Given the description of an element on the screen output the (x, y) to click on. 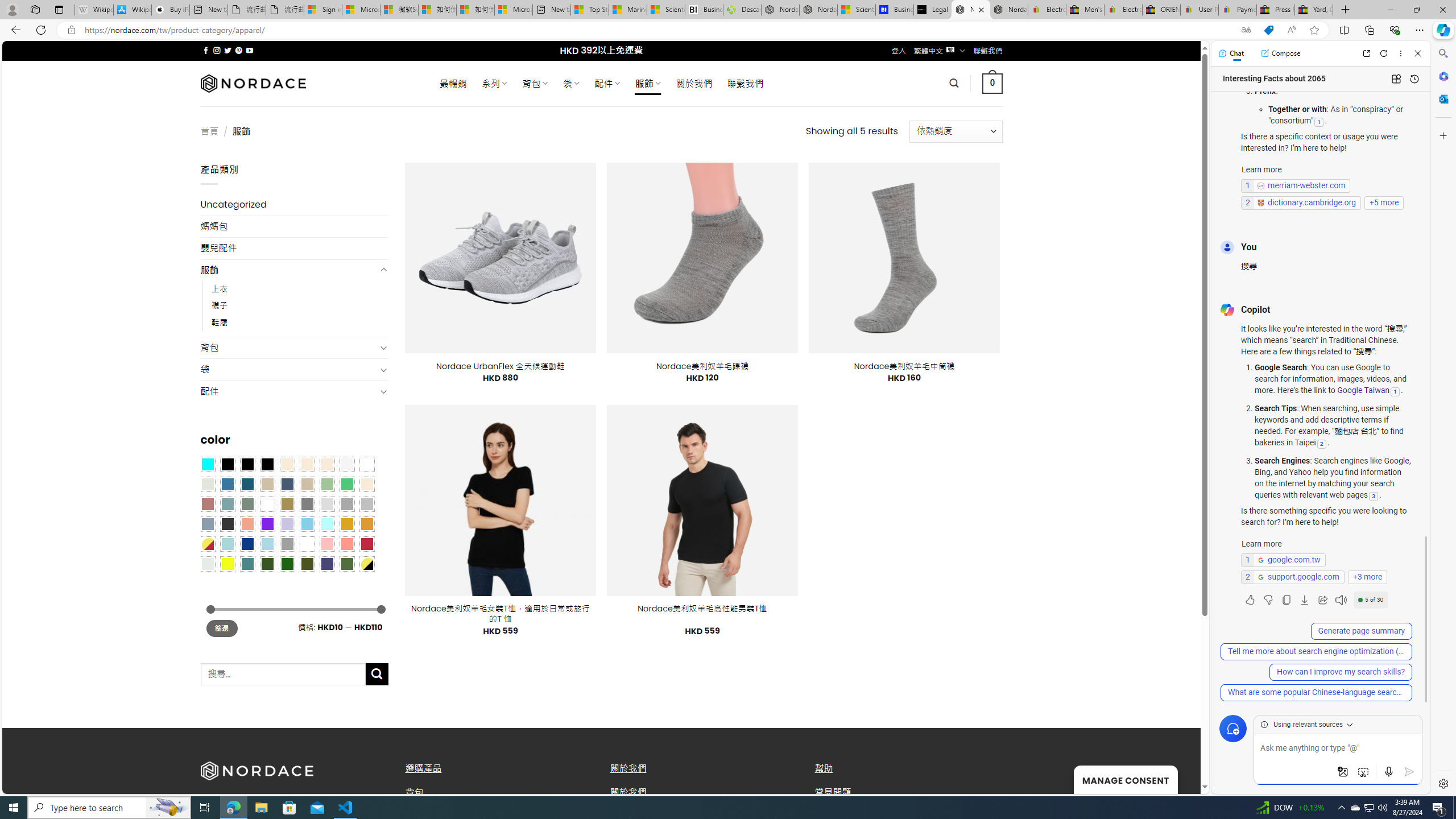
Follow on Pinterest (237, 50)
Uncategorized (294, 204)
